Given the description of an element on the screen output the (x, y) to click on. 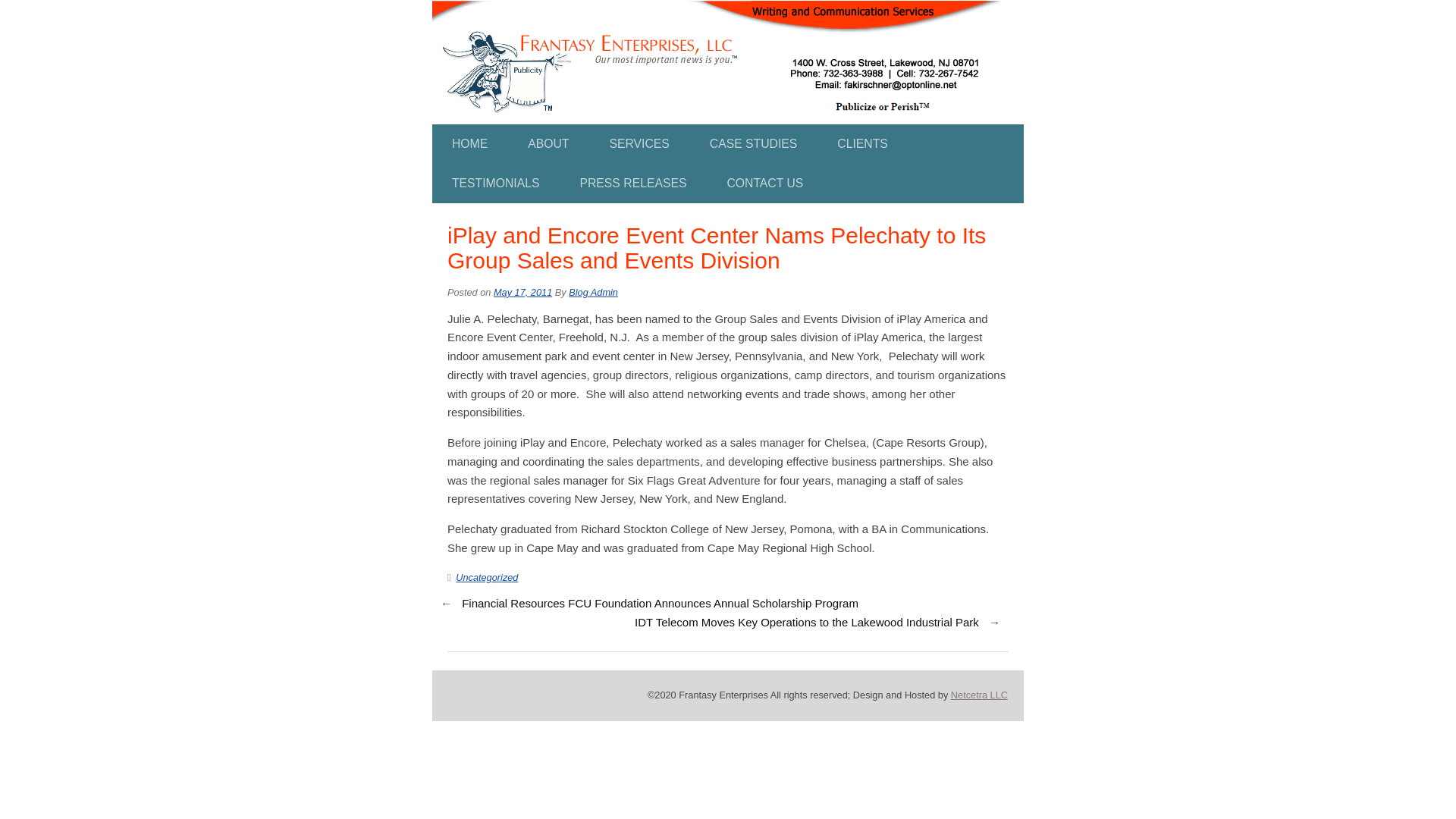
Blog Admin (593, 292)
Netcetra LLC (978, 695)
HOME (469, 143)
SERVICES (638, 143)
CLIENTS (861, 143)
Frantasy Enterprises, LLC (717, 8)
PRESS RELEASES (632, 183)
TESTIMONIALS (495, 183)
ABOUT (548, 143)
